Given the description of an element on the screen output the (x, y) to click on. 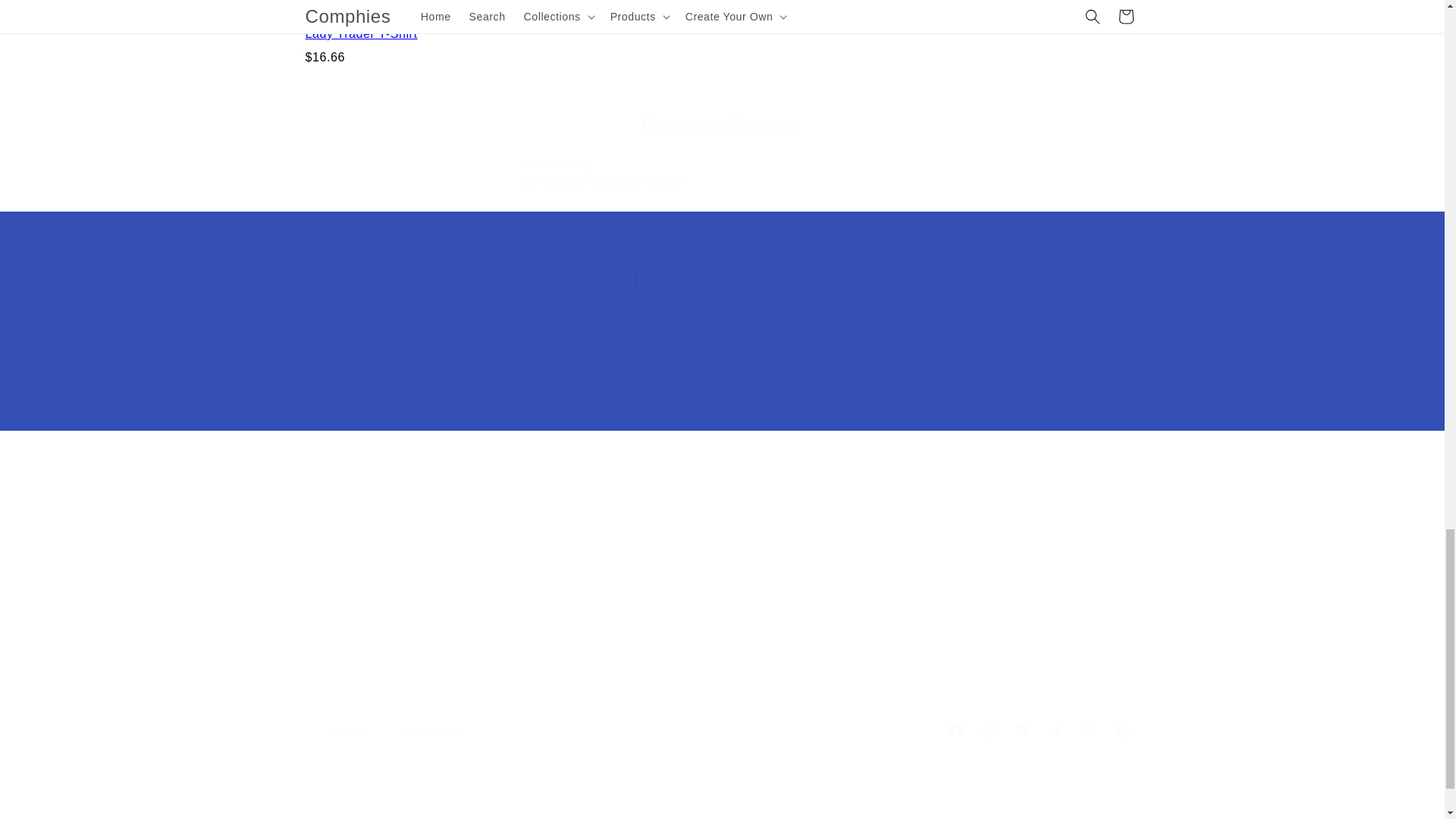
Email (721, 160)
